Given the description of an element on the screen output the (x, y) to click on. 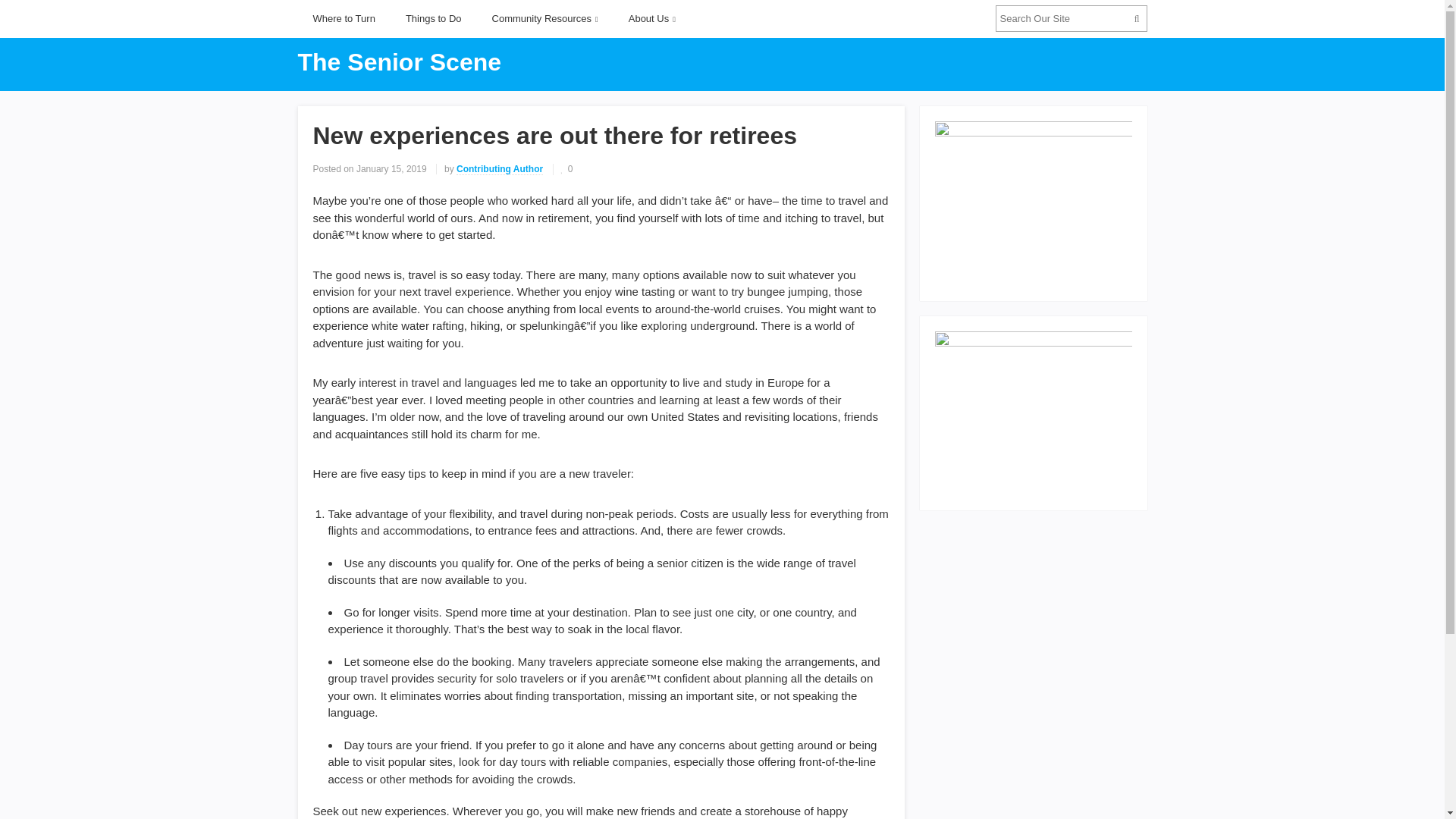
Where to Turn (343, 18)
0 (566, 168)
Things to Do (433, 18)
The Senior Scene (398, 62)
Contributing Author (500, 169)
About Us (651, 18)
Like this (566, 168)
Community Resources (544, 18)
